Given the description of an element on the screen output the (x, y) to click on. 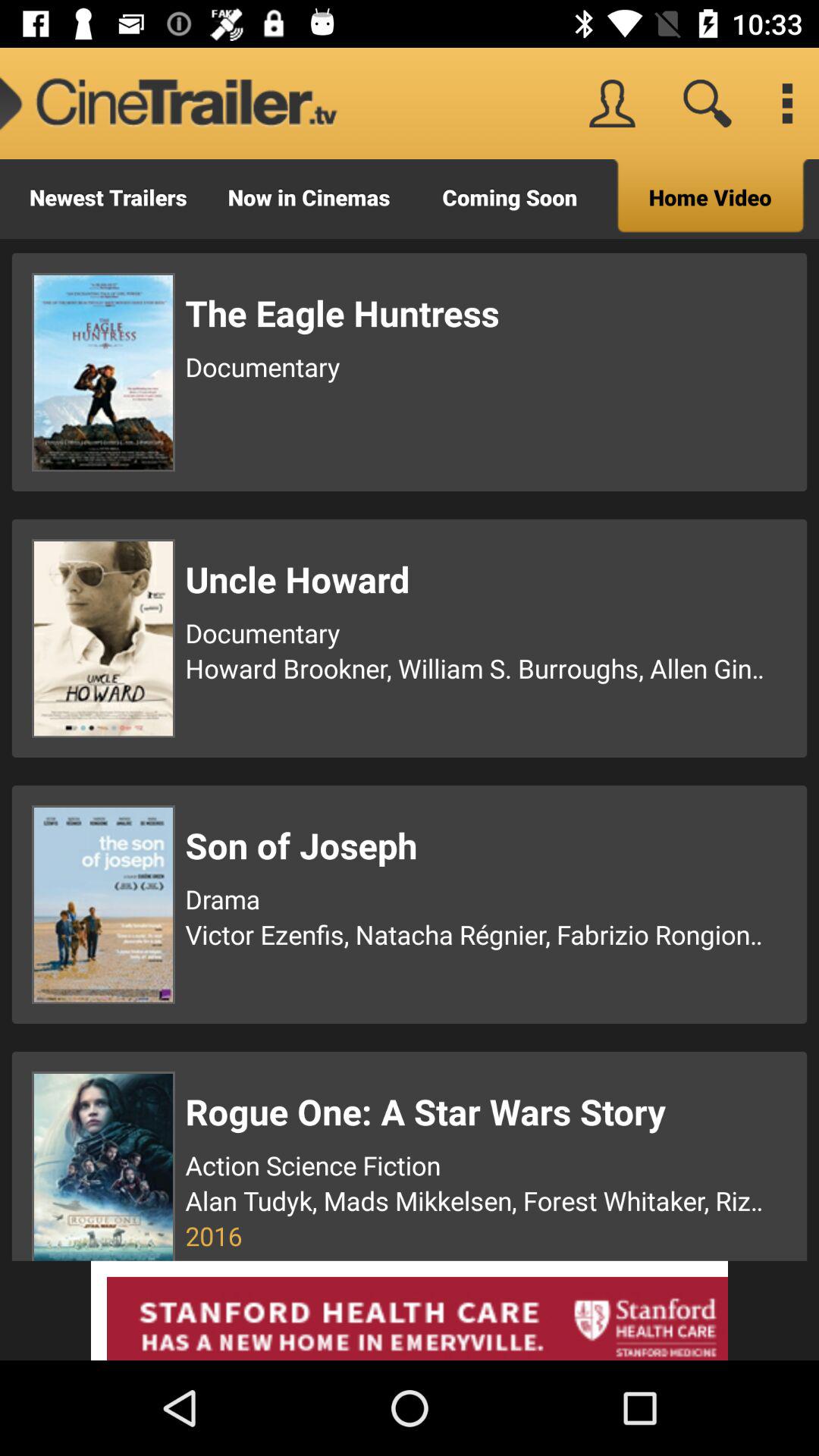
tap the icon above the the eagle huntress icon (710, 198)
